Given the description of an element on the screen output the (x, y) to click on. 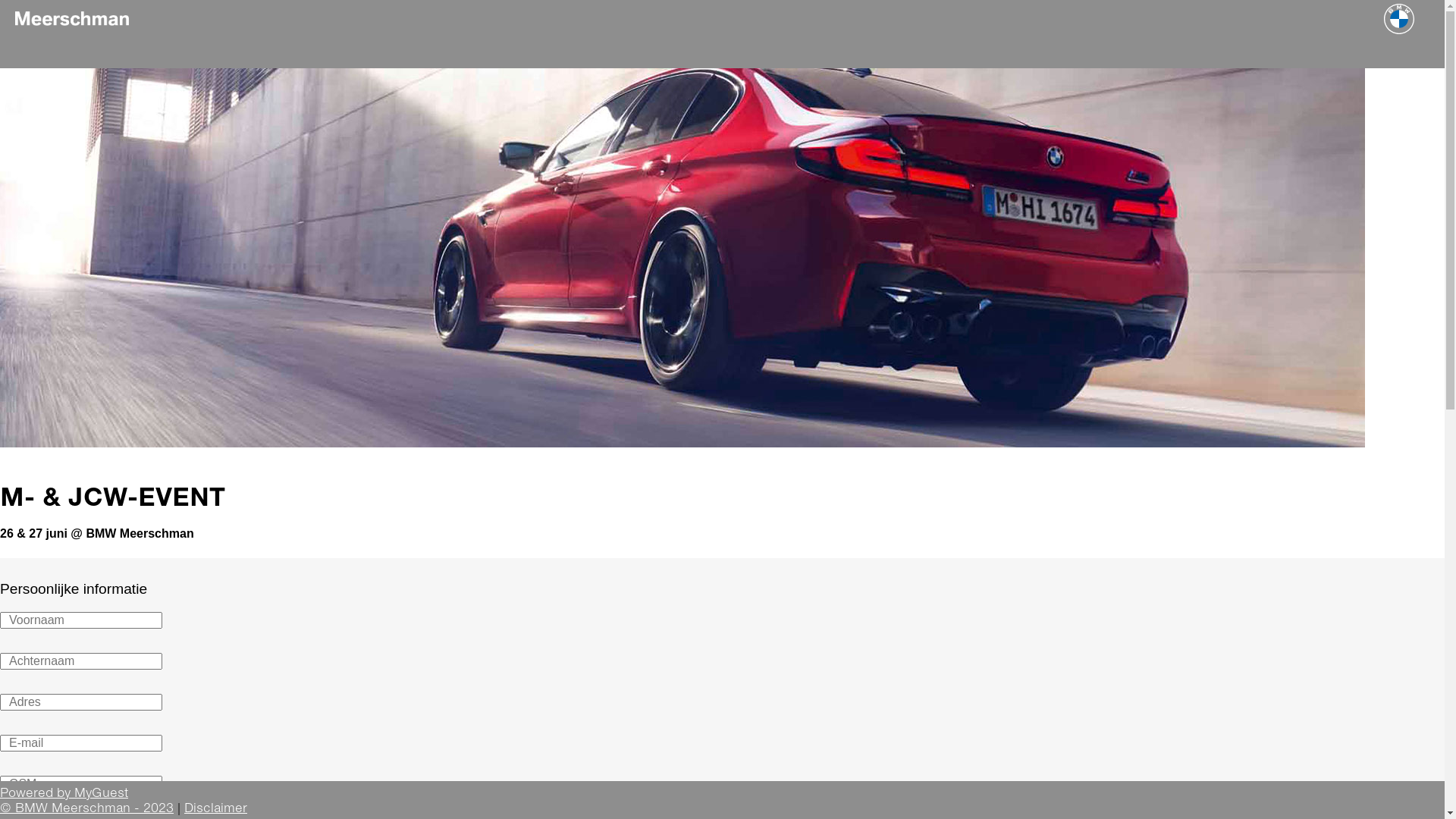
Disclaimer Element type: text (215, 807)
Powered by MyGuest Element type: text (64, 792)
